Given the description of an element on the screen output the (x, y) to click on. 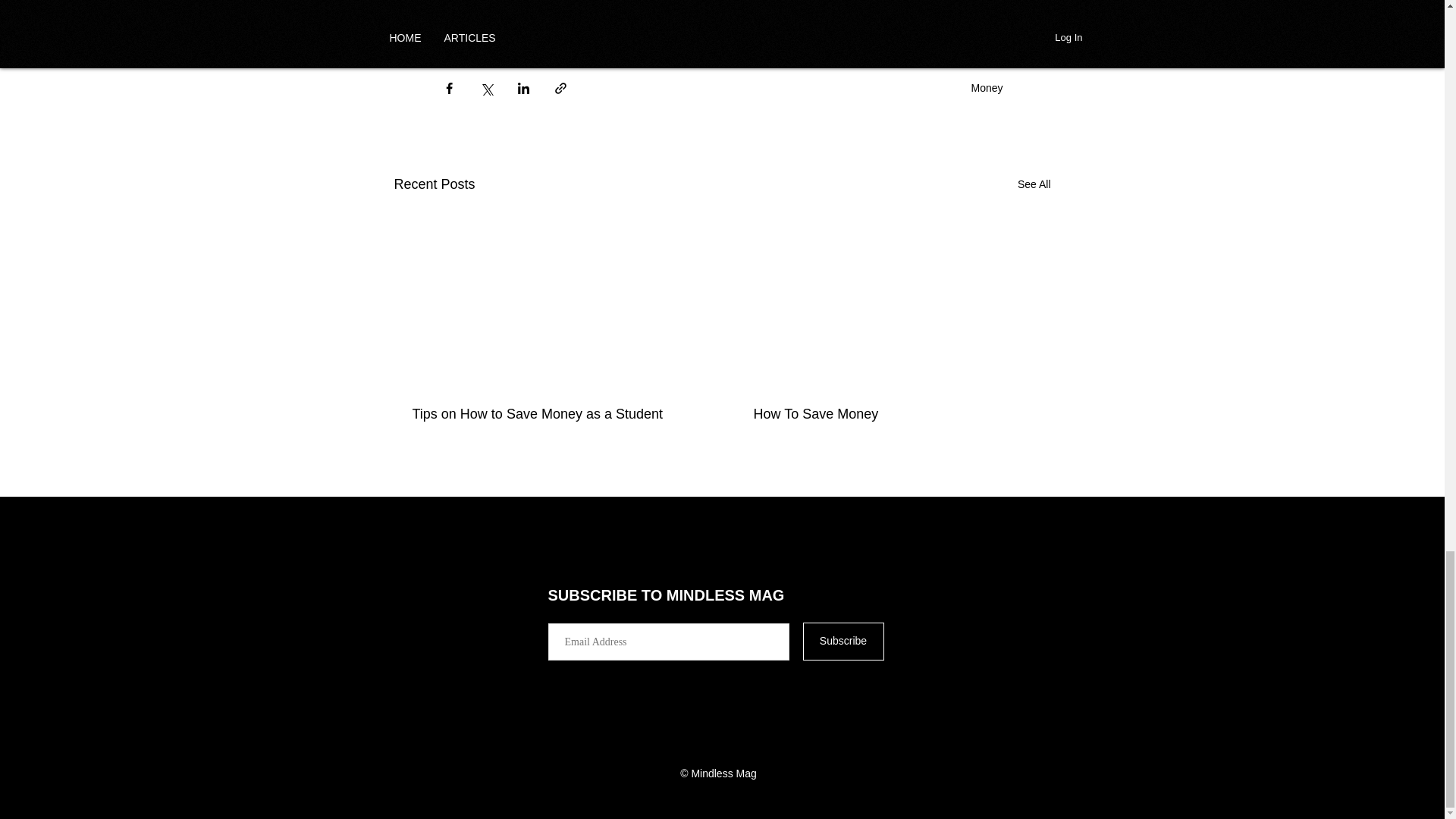
See All (1034, 184)
Subscribe (842, 641)
How To Save Money (893, 414)
Tips on How to Save Money as a Student (551, 414)
Money (987, 87)
